Given the description of an element on the screen output the (x, y) to click on. 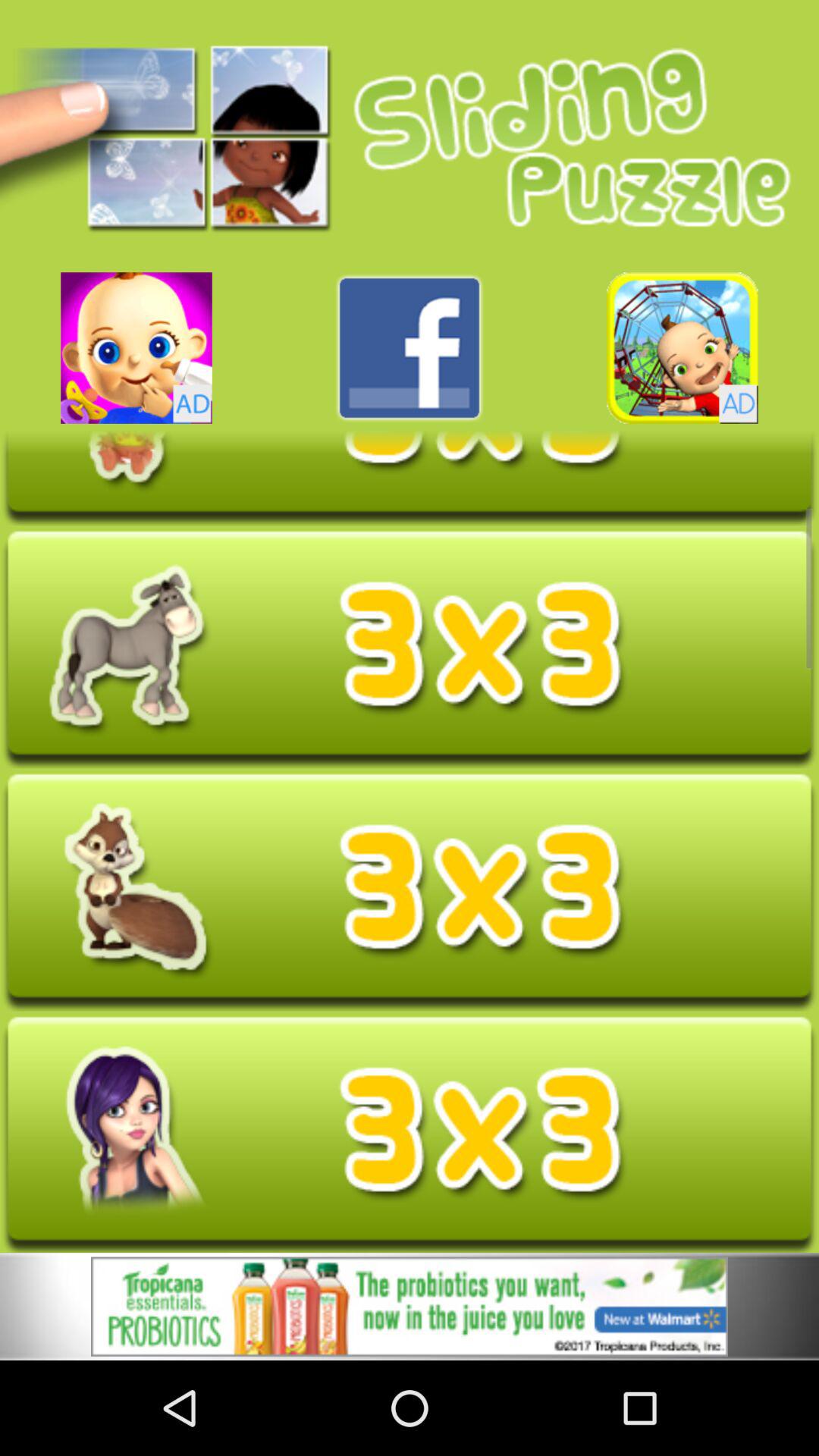
view the advertisement (409, 1309)
